Given the description of an element on the screen output the (x, y) to click on. 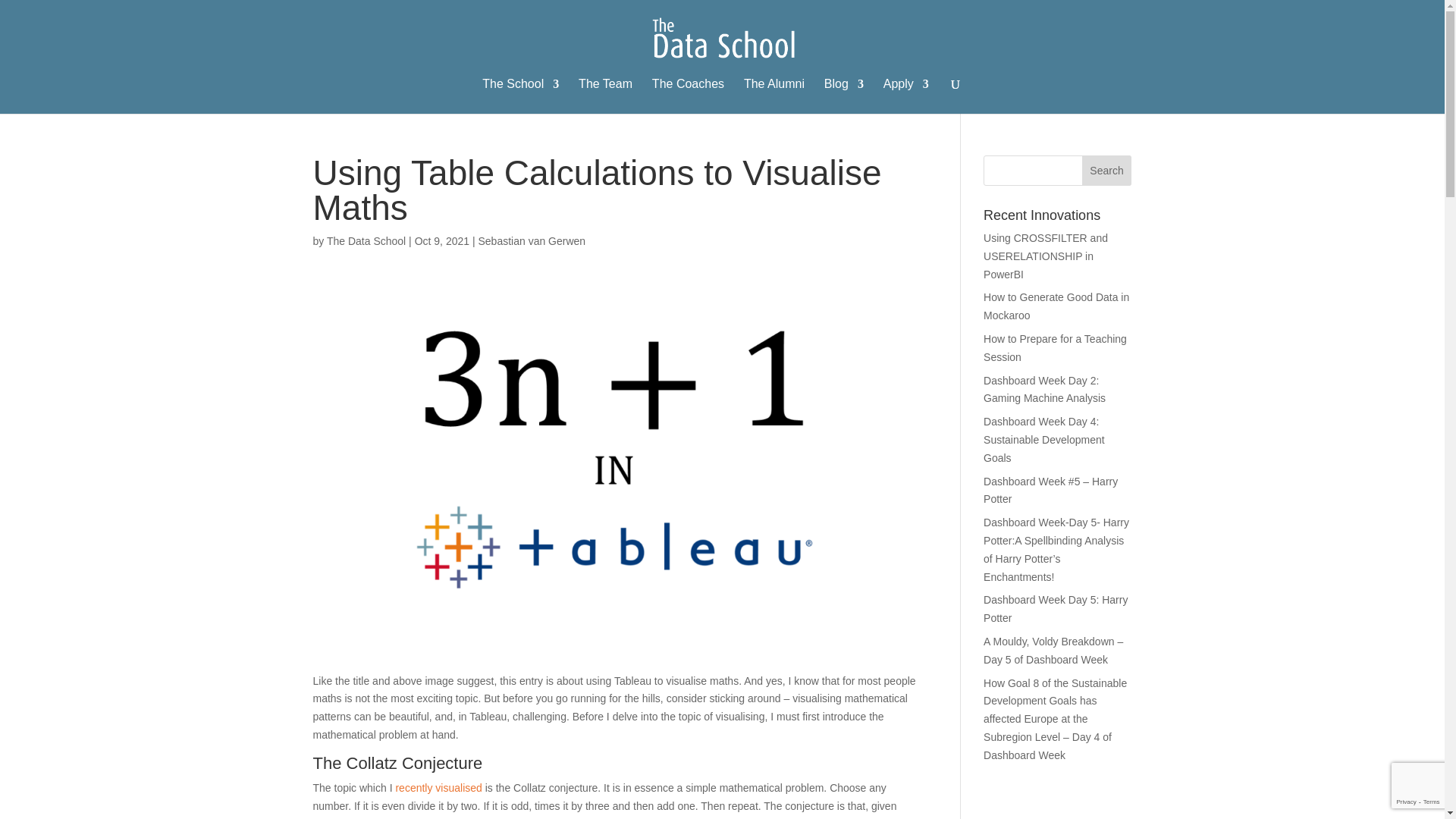
Search (1106, 170)
How to Prepare for a Teaching Session (1055, 347)
The Data School (366, 241)
Search (1106, 170)
Apply (905, 95)
The Team (604, 95)
Sebastian van Gerwen (531, 241)
Posts by The Data School (366, 241)
The School (520, 95)
The Alumni (774, 95)
